Given the description of an element on the screen output the (x, y) to click on. 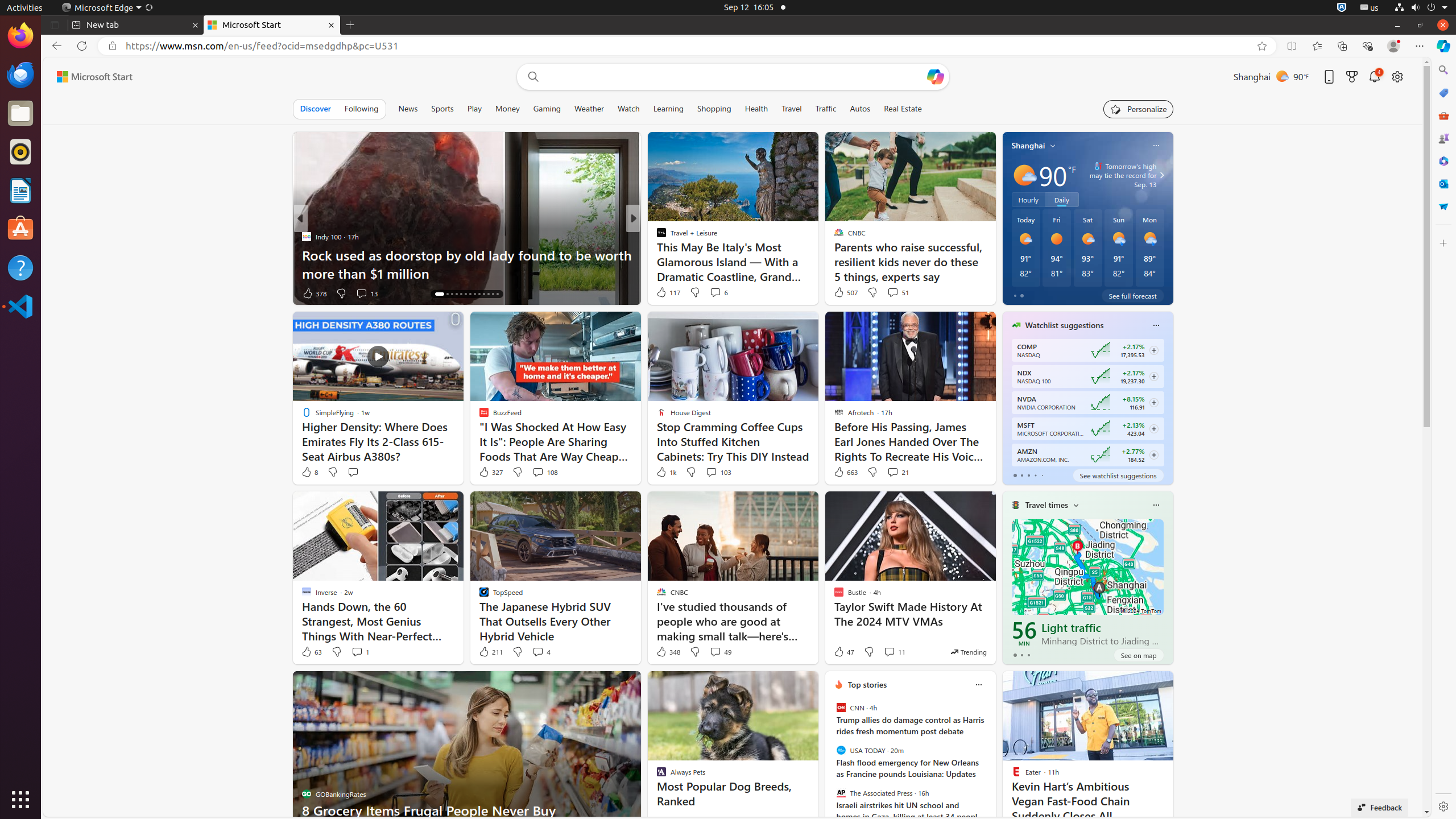
See more Element type: push-button (1159, 684)
